Given the description of an element on the screen output the (x, y) to click on. 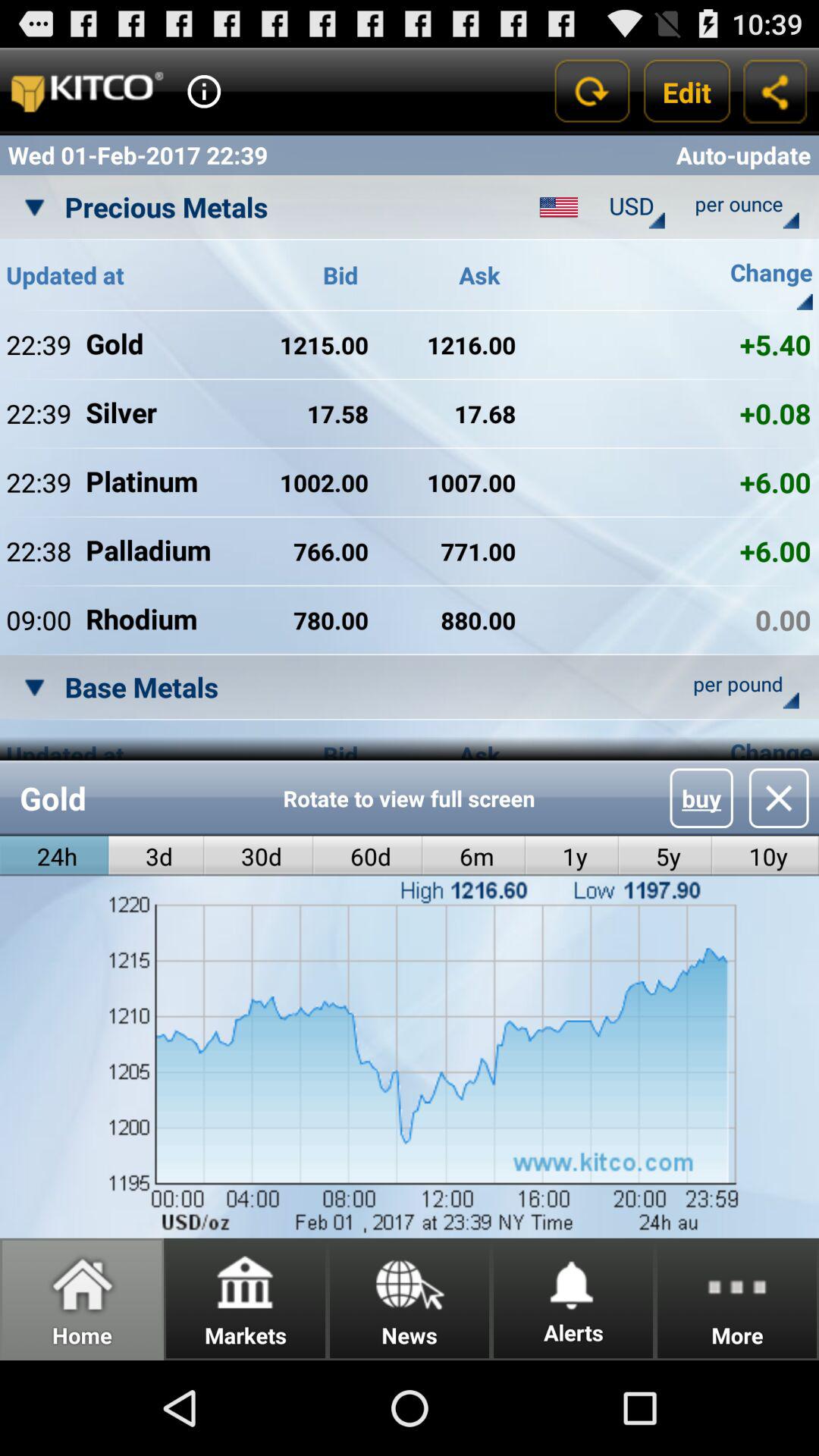
turn on the app above auto-update (686, 91)
